Given the description of an element on the screen output the (x, y) to click on. 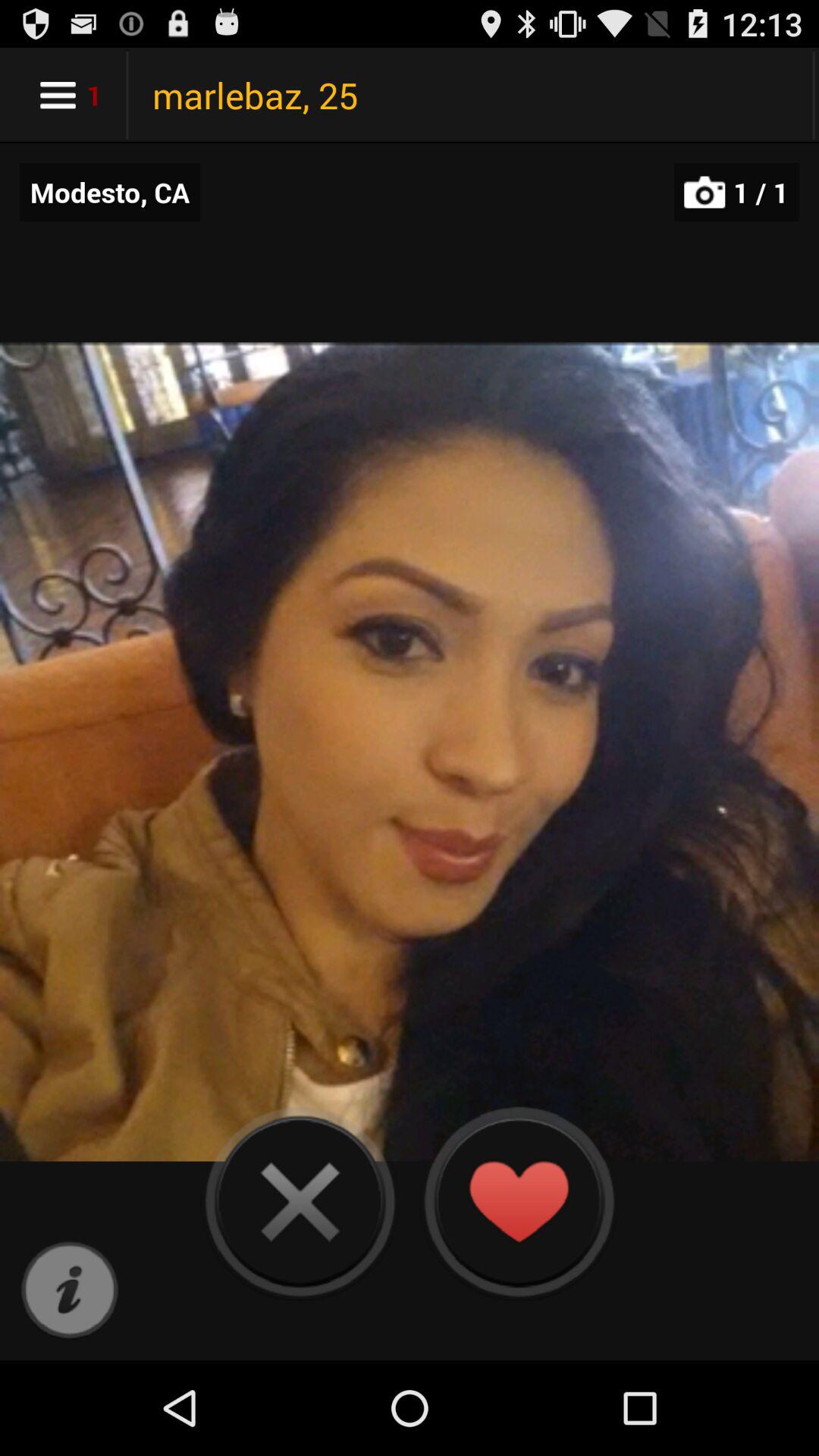
dislike picture (299, 1200)
